Given the description of an element on the screen output the (x, y) to click on. 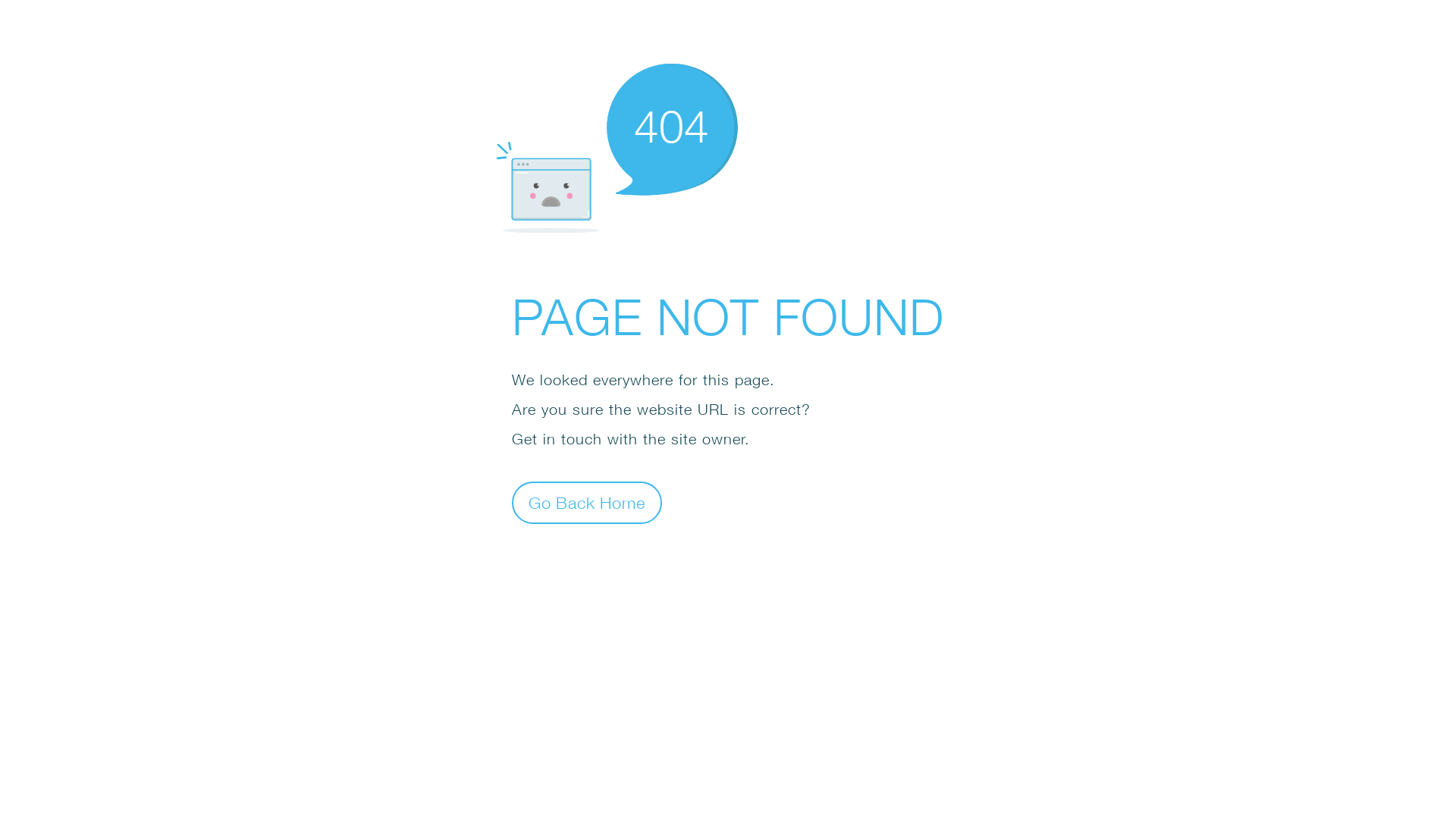
Go Back Home Element type: text (586, 502)
